Given the description of an element on the screen output the (x, y) to click on. 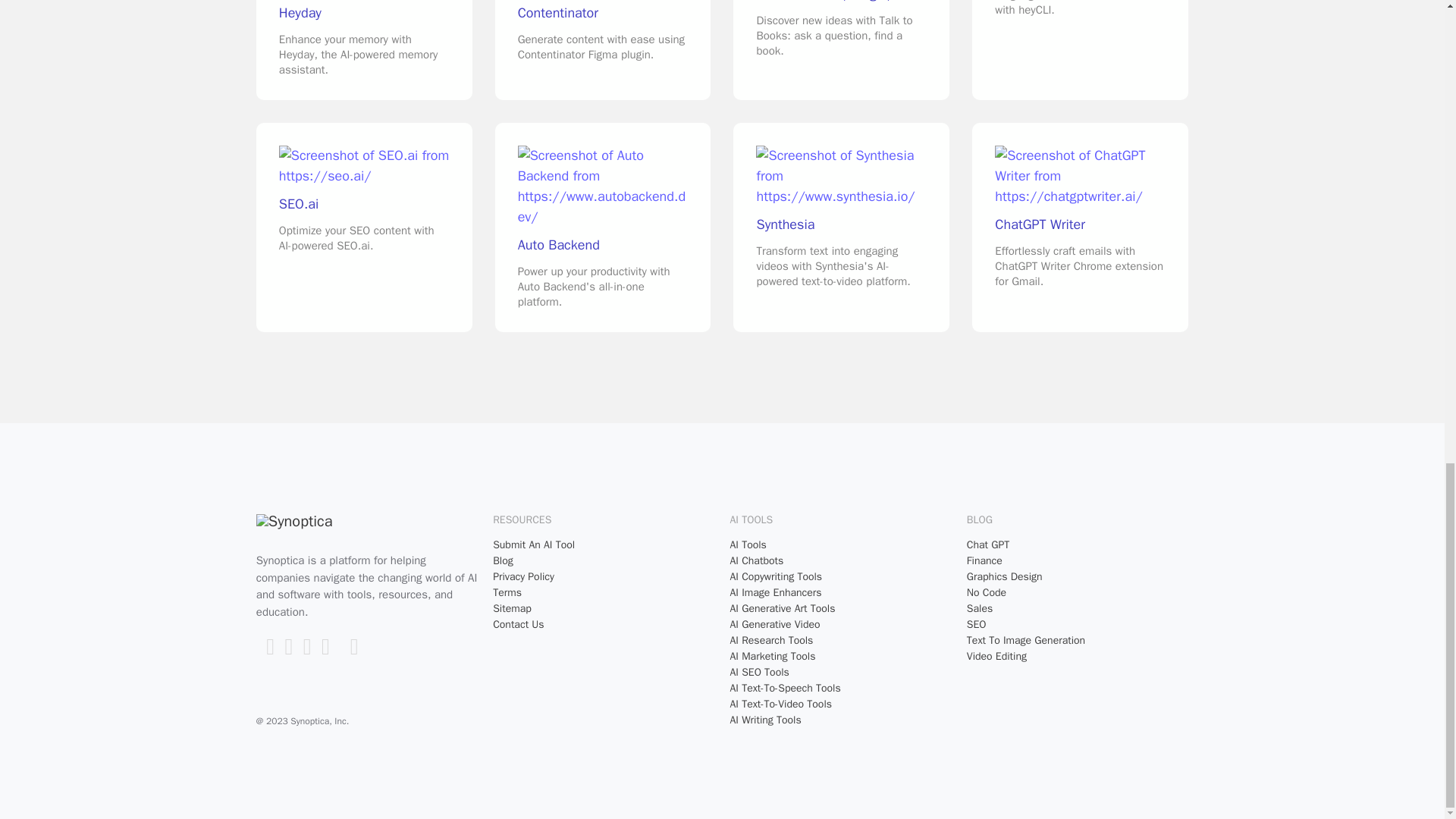
Sitemap (603, 608)
Terms (603, 592)
Submit An AI Tool (603, 544)
Blog (603, 560)
Privacy Policy (603, 576)
